Given the description of an element on the screen output the (x, y) to click on. 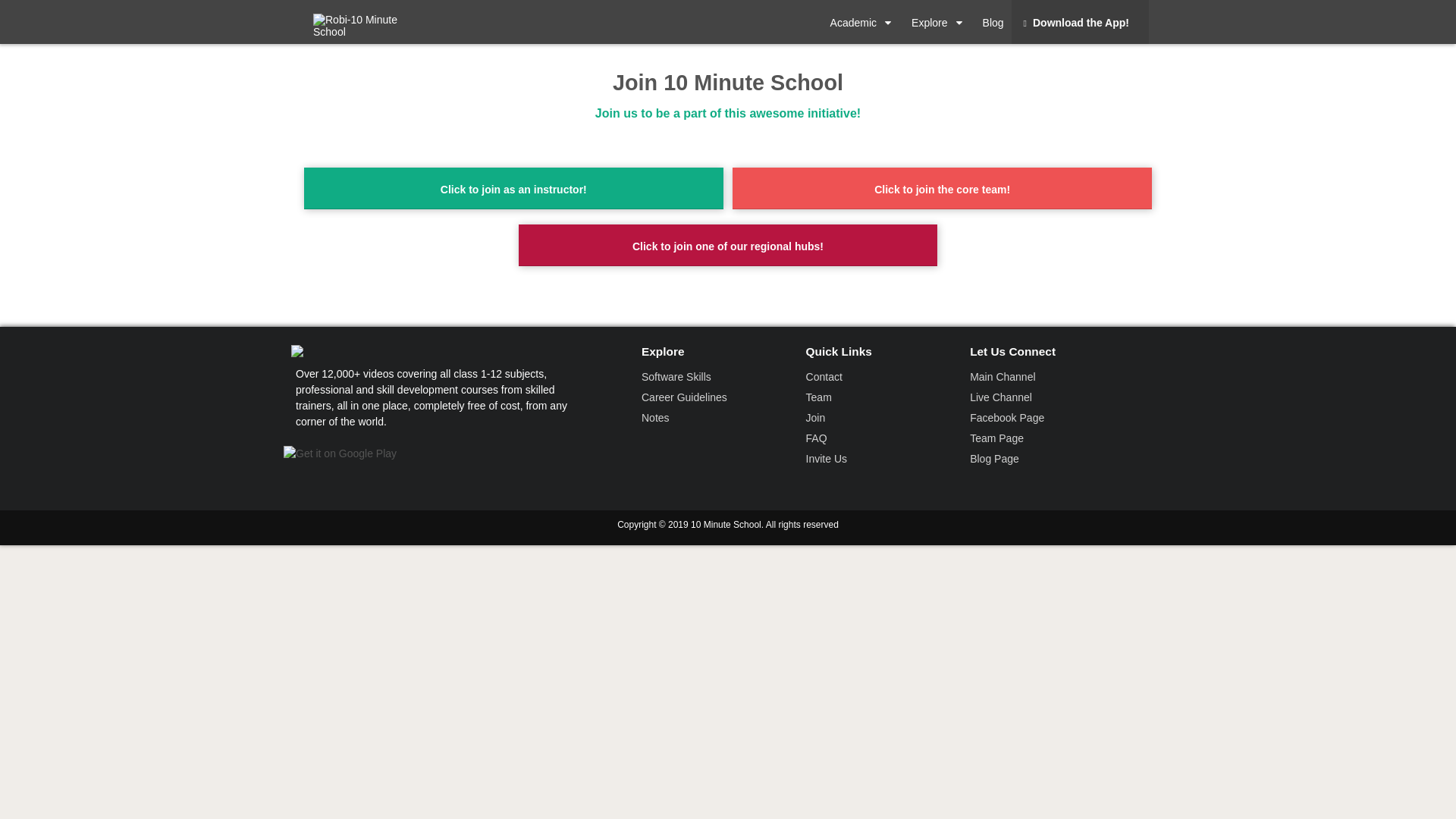
Academic Element type: text (864, 21)
Career Guidelines Element type: text (684, 397)
FAQ Element type: text (816, 438)
Download the App! Element type: text (1081, 21)
Notes Element type: text (655, 417)
Blog Page Element type: text (994, 458)
Main Channel Element type: text (1002, 376)
Blog Element type: text (993, 21)
Team Element type: text (818, 397)
Join Element type: text (815, 417)
Click to join the core team! Element type: text (941, 188)
Software Skills Element type: text (676, 376)
Team Page Element type: text (996, 438)
Click to join one of our regional hubs! Element type: text (728, 245)
Facebook Page Element type: text (1006, 417)
Click to join as an instructor! Element type: text (513, 188)
Contact Element type: text (824, 376)
Invite Us Element type: text (826, 458)
Explore Element type: text (940, 21)
Live Channel Element type: text (1000, 397)
